Given the description of an element on the screen output the (x, y) to click on. 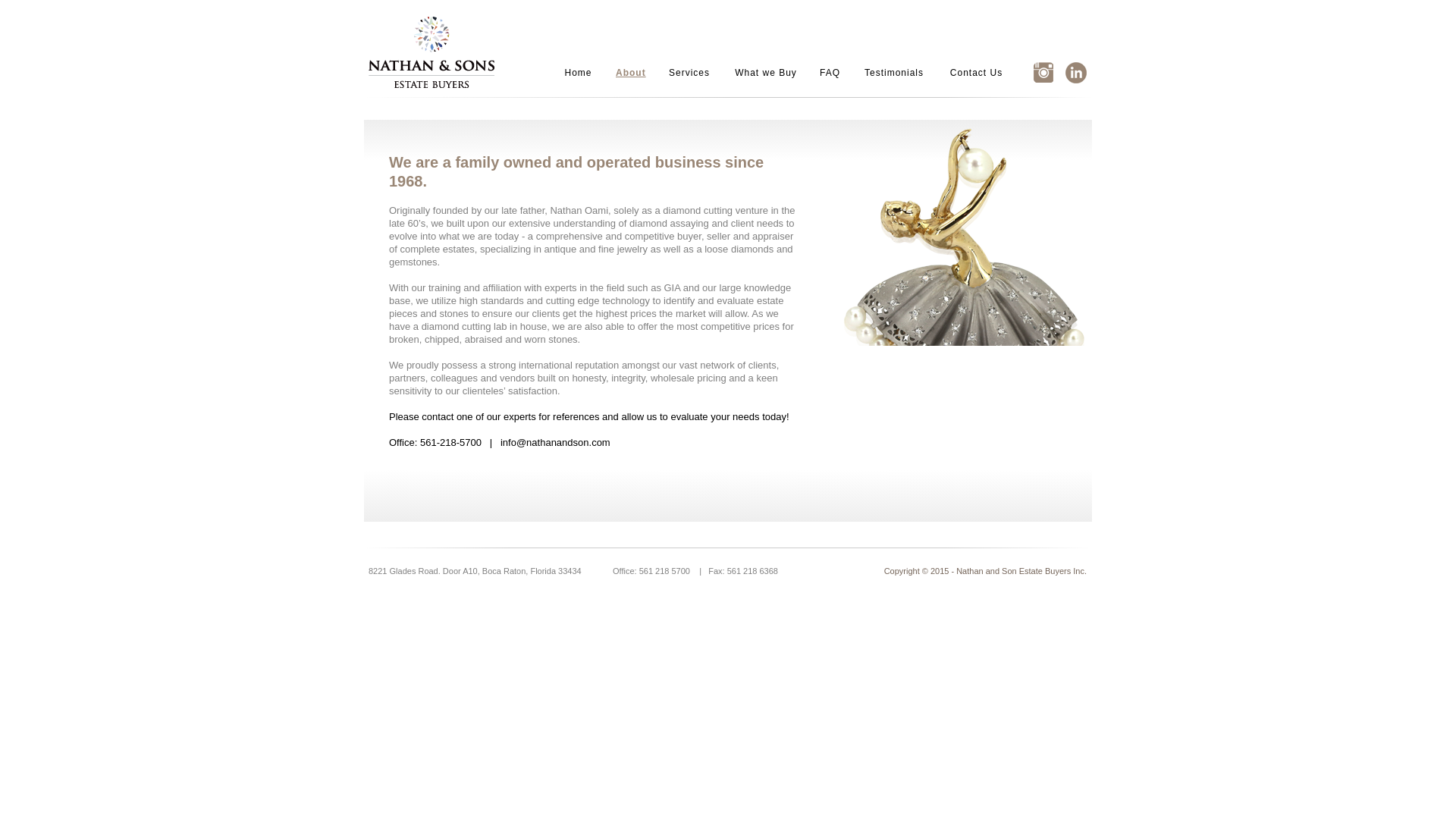
What we Buy (765, 72)
About (630, 72)
Contact Us (975, 72)
Home (578, 72)
FAQ (829, 72)
Services (689, 72)
Testimonials (893, 72)
